Given the description of an element on the screen output the (x, y) to click on. 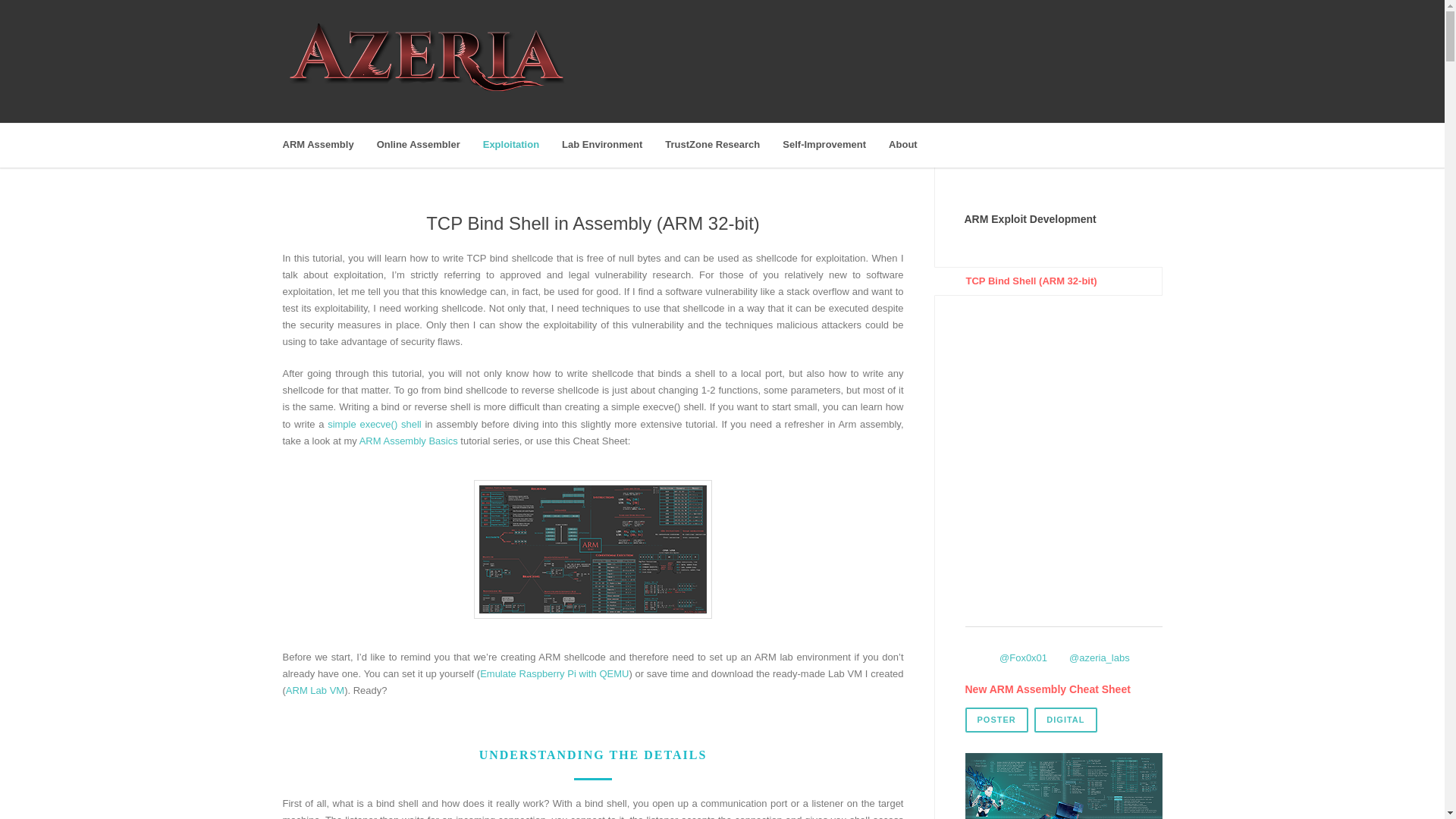
Lab Environment (613, 145)
Exploitation (522, 145)
ARM Assembly (328, 145)
TrustZone Research (724, 145)
Online Assembler (430, 145)
Self-Improvement (835, 145)
cheatsheetv1-icon (592, 549)
